Given the description of an element on the screen output the (x, y) to click on. 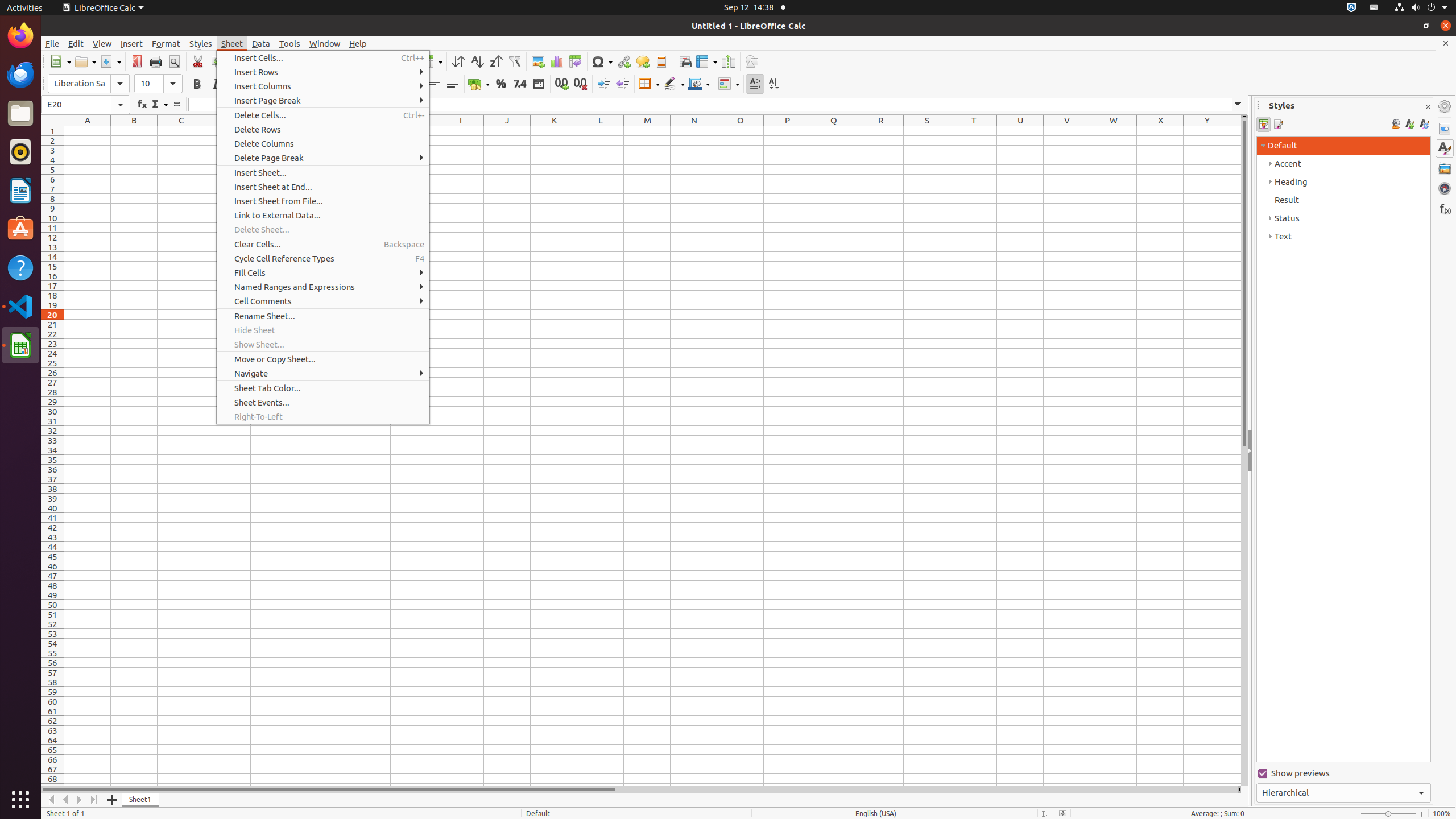
Cycle Cell Reference Types Element type: menu-item (322, 258)
Sheet1 Element type: page-tab (140, 799)
T1 Element type: table-cell (973, 130)
Headers and Footers Element type: push-button (660, 61)
Files Element type: push-button (20, 113)
